Given the description of an element on the screen output the (x, y) to click on. 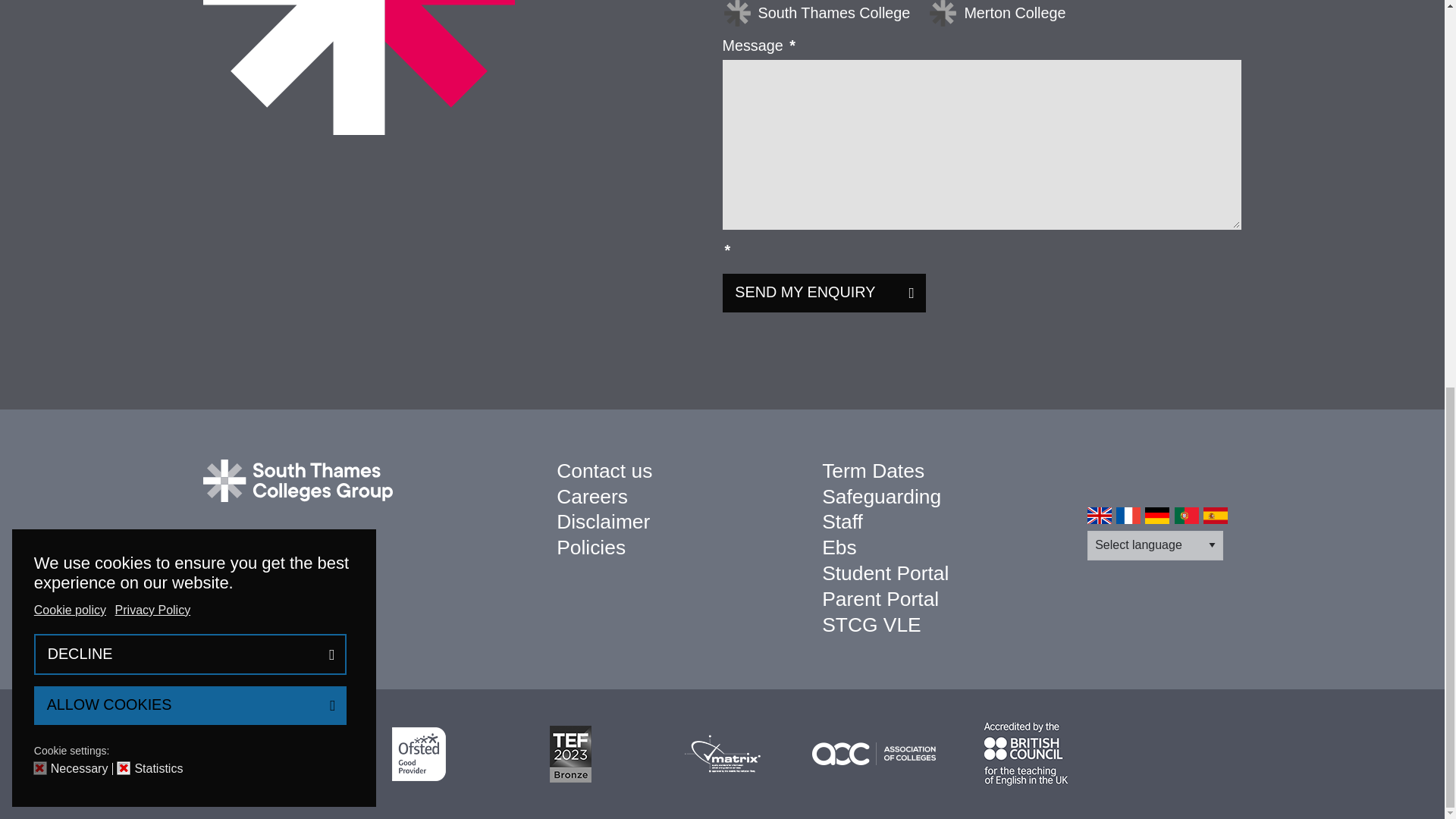
SEND MY ENQUIRY (823, 292)
Statistics (160, 36)
Contact us (604, 470)
Spanish (1215, 514)
Policies (591, 547)
Brazil (1186, 514)
Term Dates (873, 470)
Careers (591, 496)
Ebs (839, 547)
German (1156, 514)
Necessary (81, 36)
French (1128, 514)
Safeguarding (881, 496)
Disclaimer (602, 521)
